Given the description of an element on the screen output the (x, y) to click on. 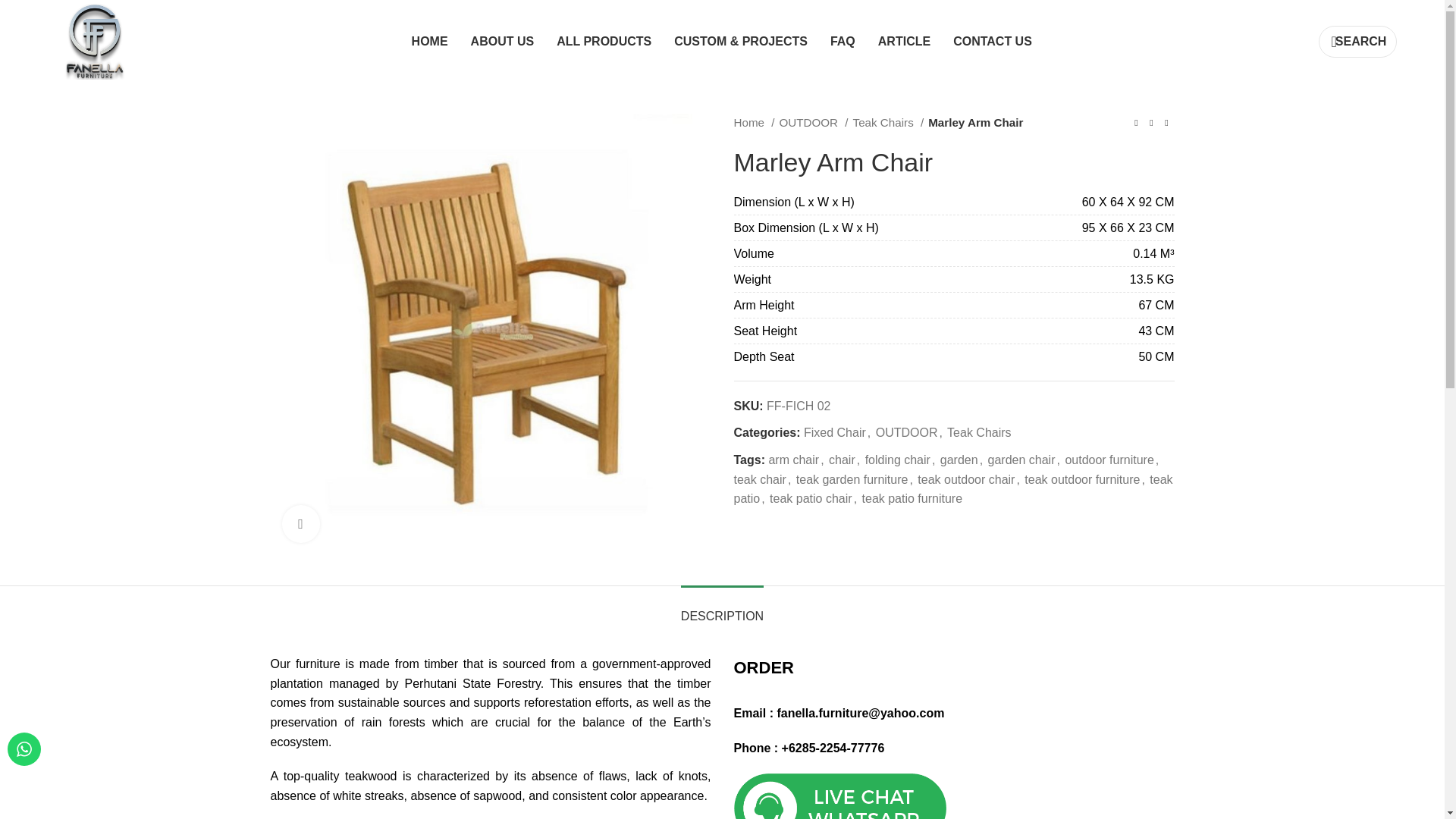
SEARCH (1358, 41)
folding chair (897, 459)
HOME (430, 41)
teak chair (759, 479)
teak patio (953, 489)
FAQ (842, 41)
teak garden furniture (852, 479)
ALL PRODUCTS (603, 41)
OUTDOOR (906, 431)
Hi. Have any questions ? Ask away ! (23, 748)
arm chair (793, 459)
Teak Chairs (978, 431)
garden chair (1021, 459)
garden (959, 459)
